Given the description of an element on the screen output the (x, y) to click on. 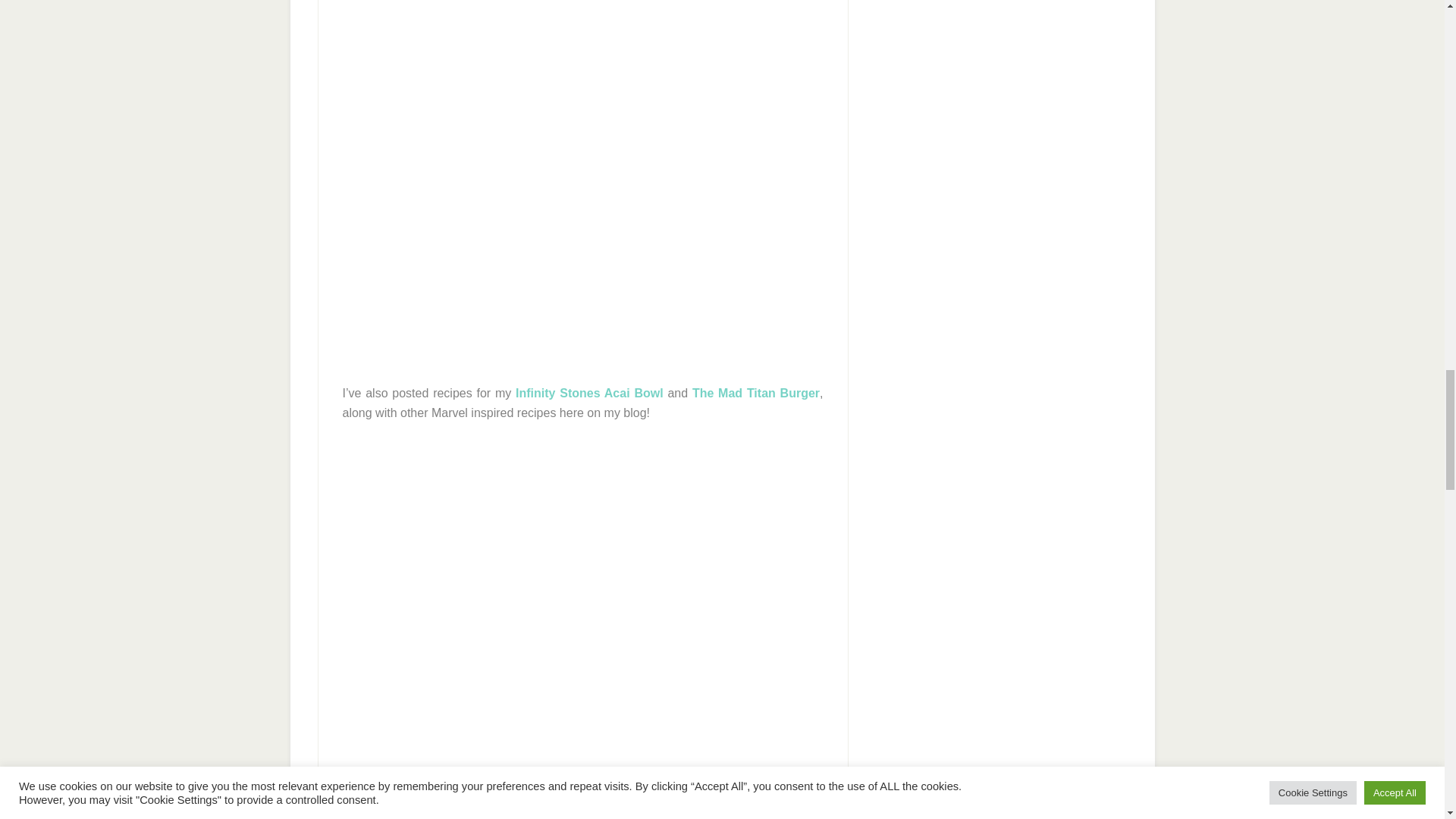
Infinity Stones Acai Bowl (589, 392)
The Mad Titan Burger (756, 392)
